Given the description of an element on the screen output the (x, y) to click on. 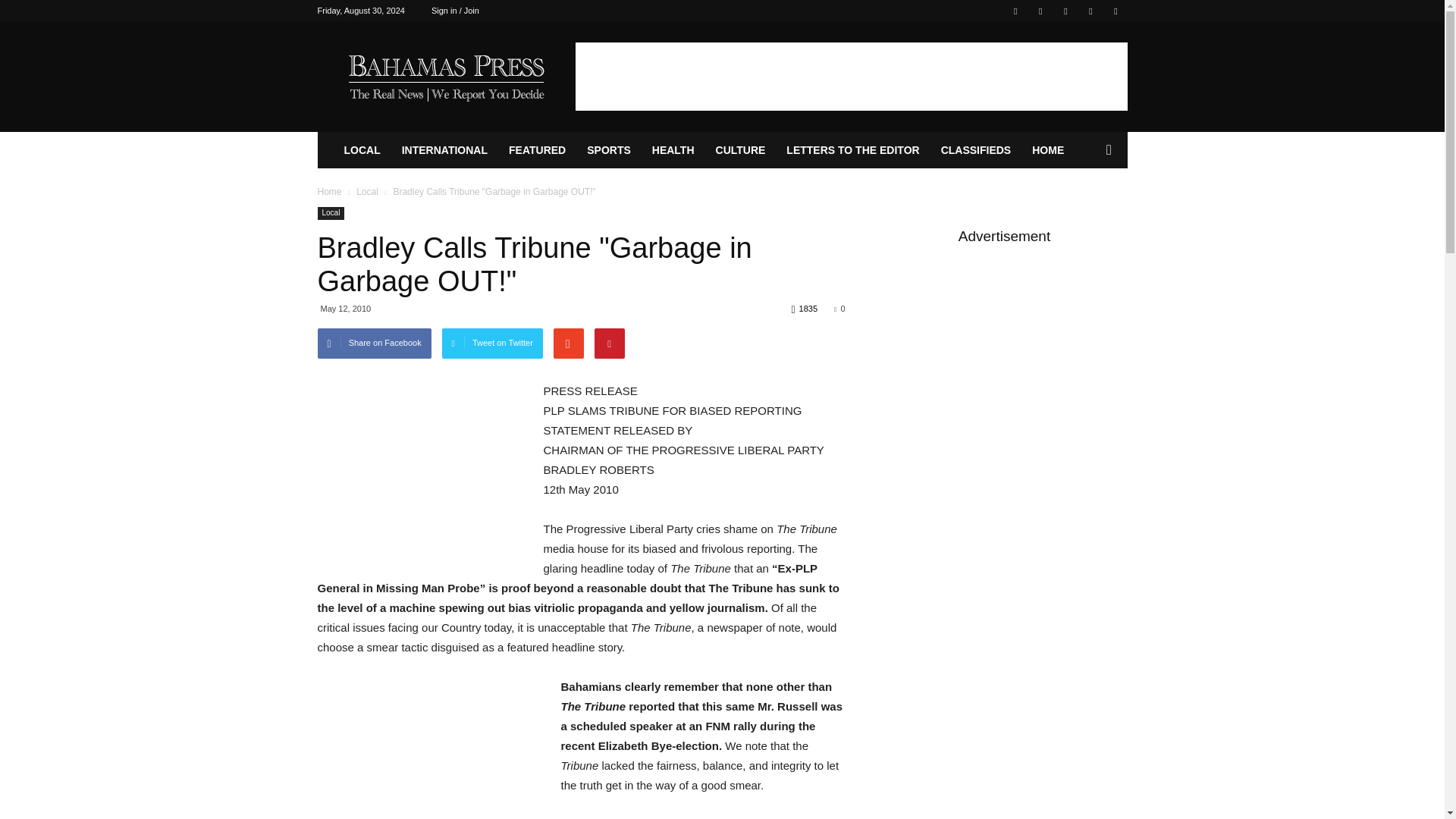
Facebook (1015, 10)
Youtube (1114, 10)
Vimeo (1065, 10)
View all posts in Local (367, 191)
VKontakte (1090, 10)
CULTURE (740, 149)
INTERNATIONAL (444, 149)
FEATURED (536, 149)
Twitter (1040, 10)
HEALTH (673, 149)
